Given the description of an element on the screen output the (x, y) to click on. 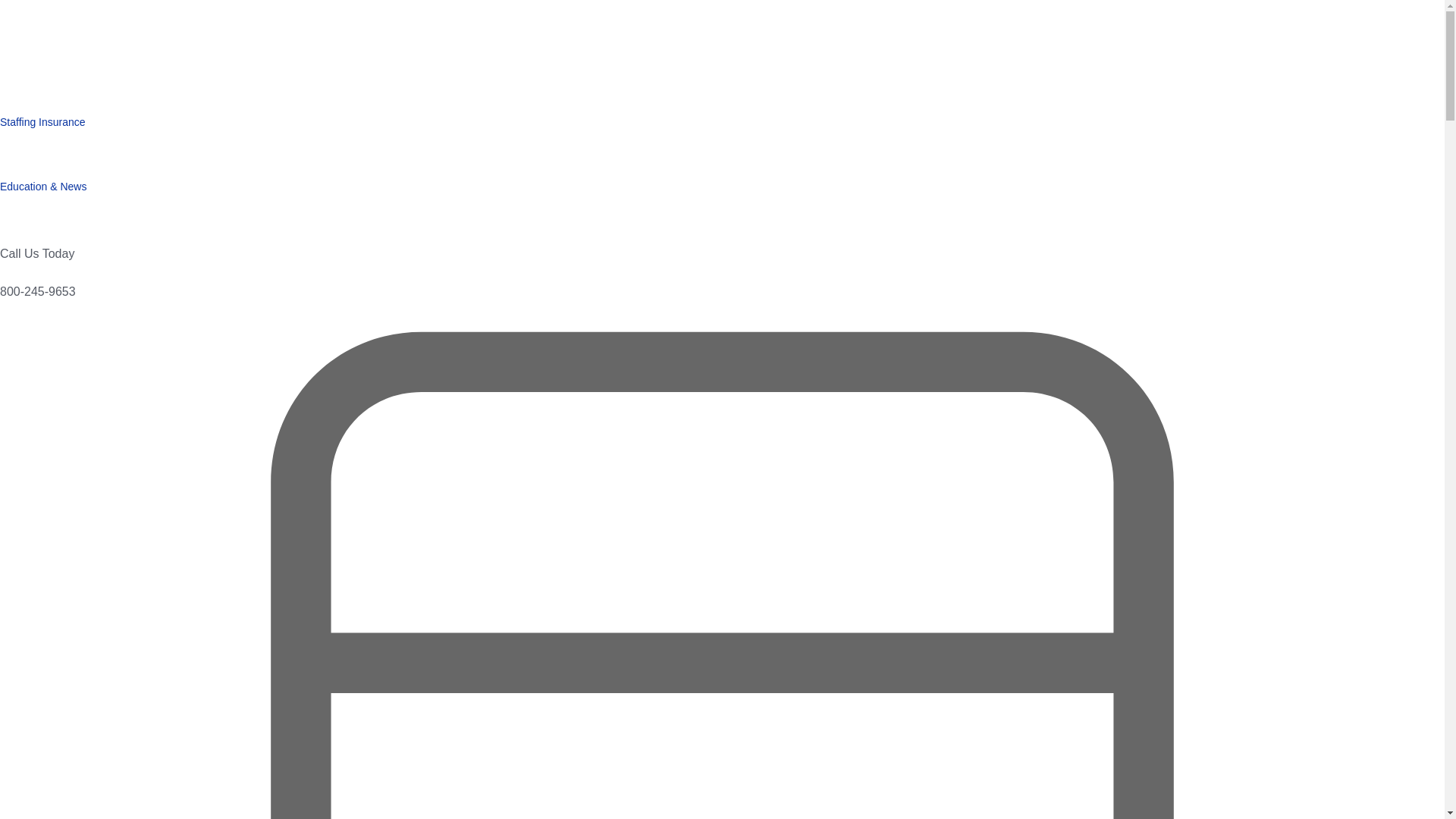
World Wide Specialty Programs (113, 55)
